Given the description of an element on the screen output the (x, y) to click on. 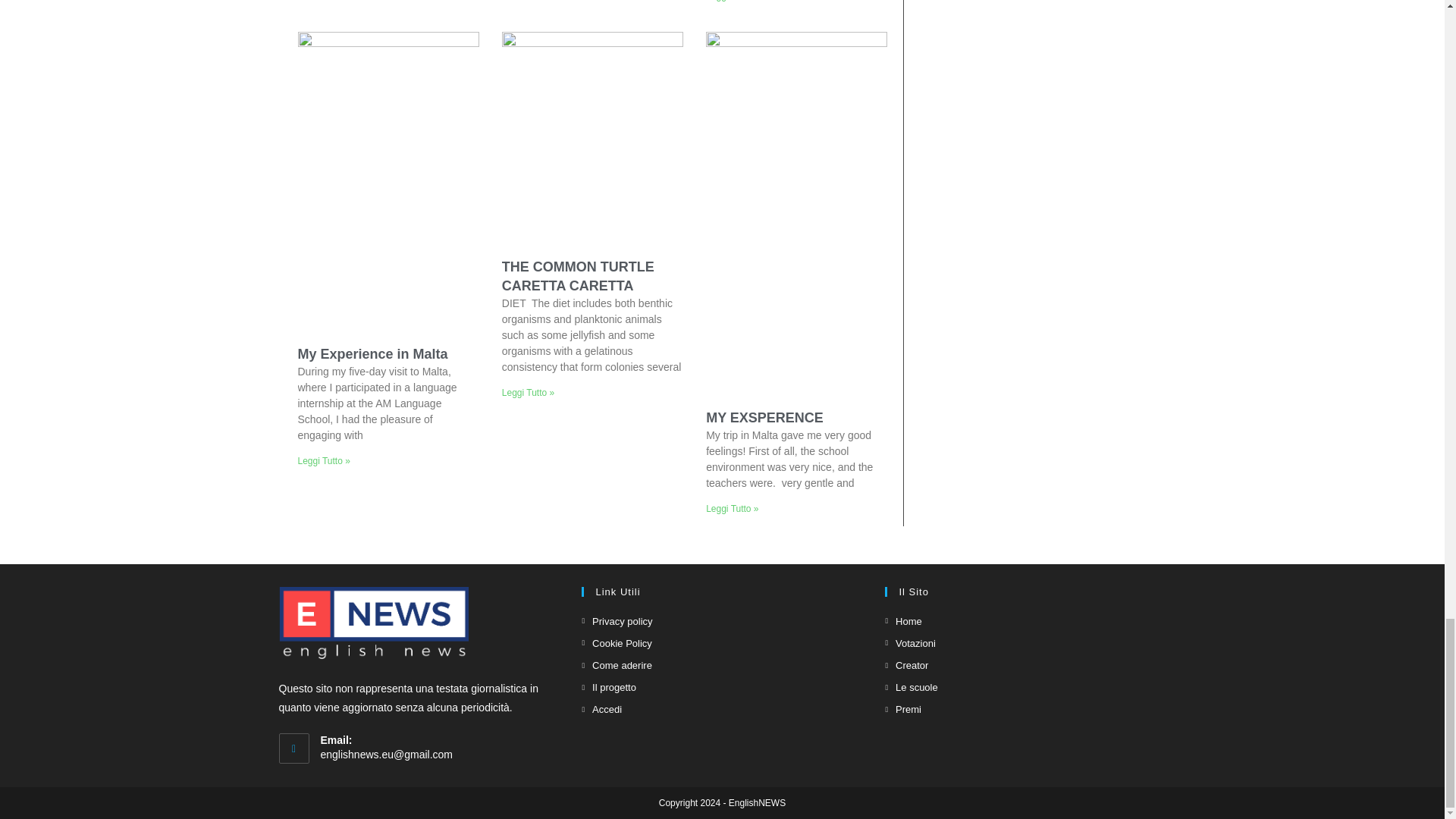
THE COMMON TURTLE CARETTA CARETTA (577, 276)
My Experience in Malta (371, 353)
MY EXSPERENCE (765, 417)
